Given the description of an element on the screen output the (x, y) to click on. 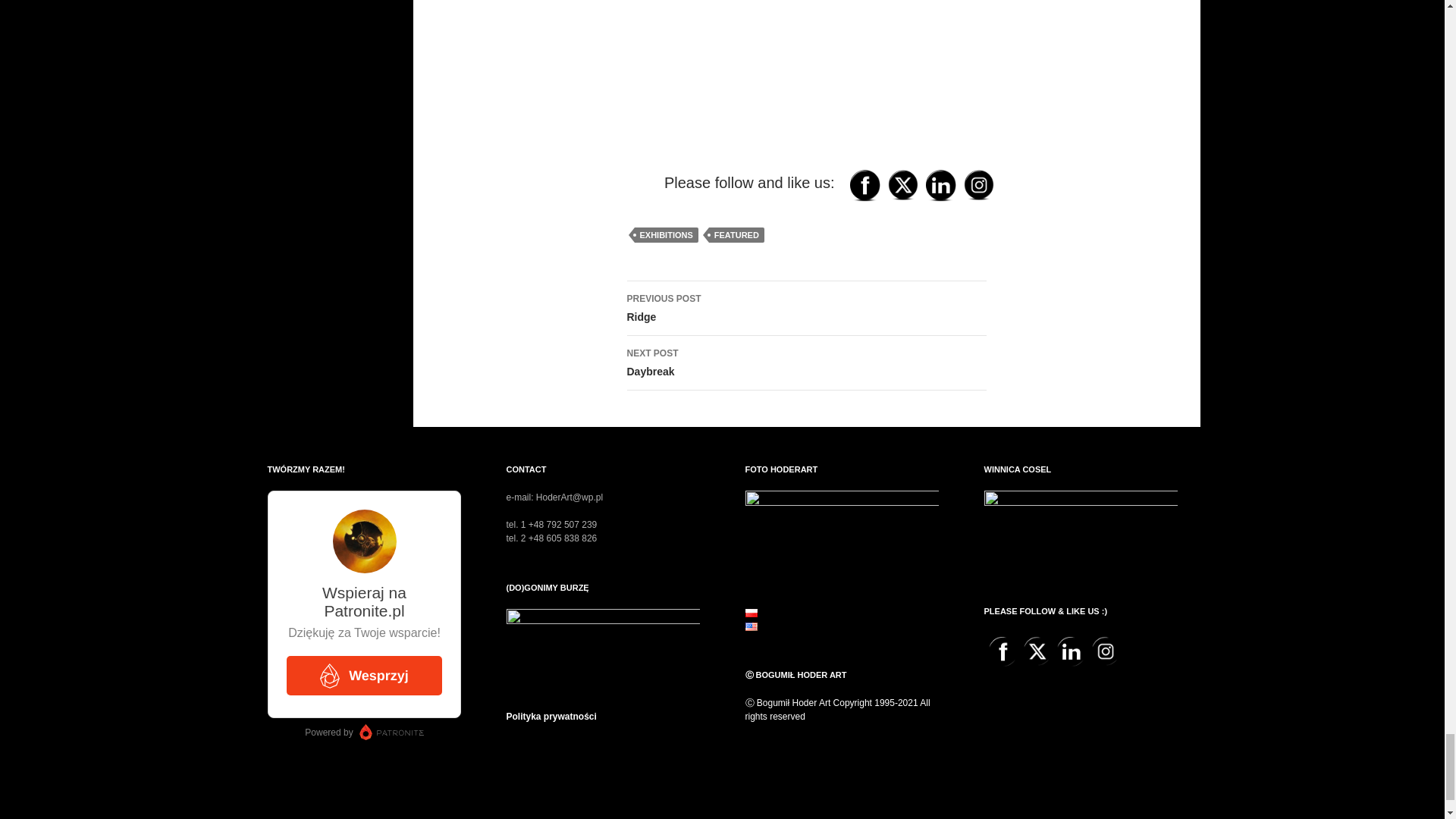
Facebook (863, 184)
Facebook (1002, 651)
Twitter (1037, 651)
LinkedIn (939, 184)
Twitter (901, 184)
Instagram (977, 184)
